Given the description of an element on the screen output the (x, y) to click on. 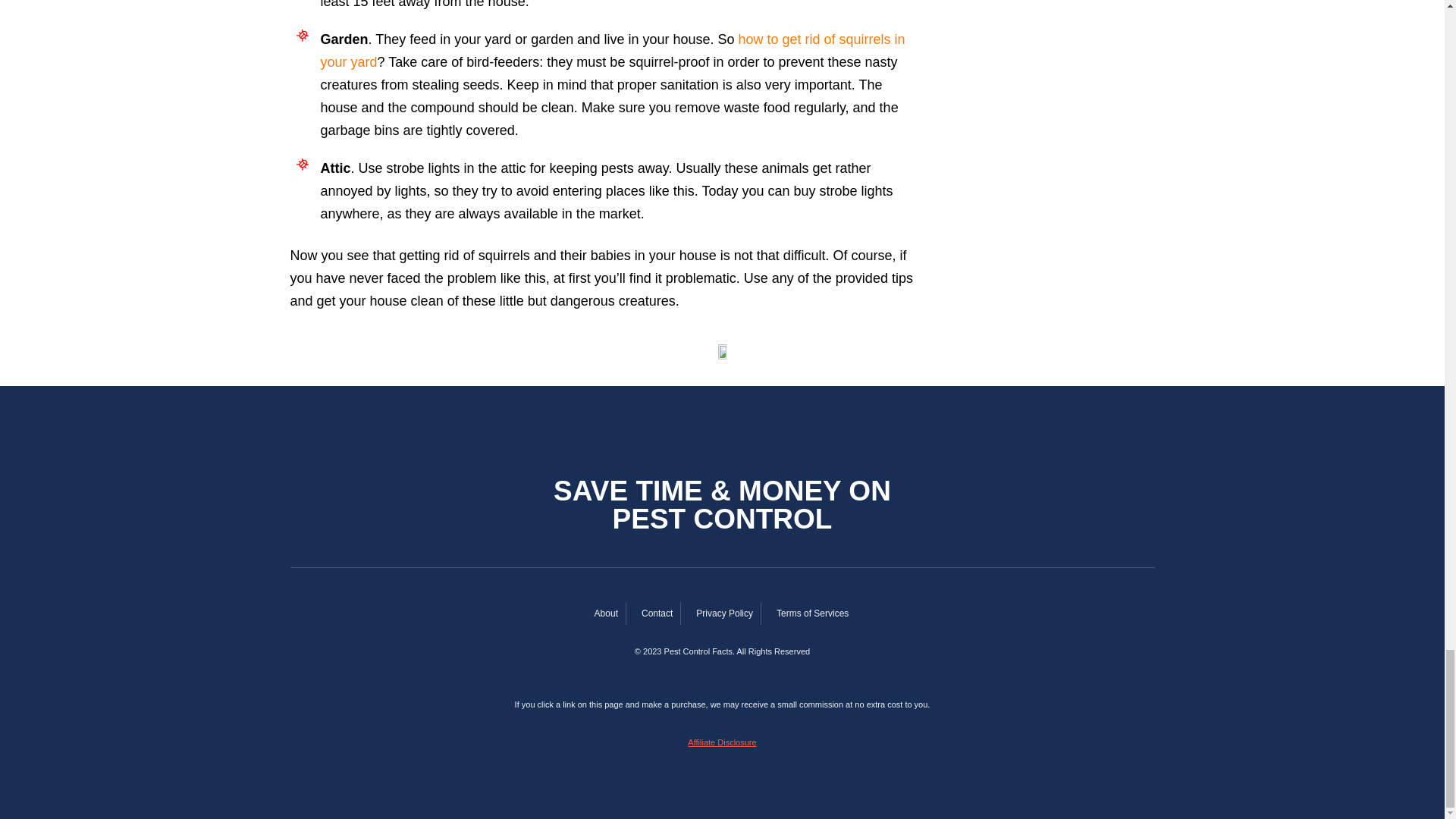
About (602, 612)
Contact (653, 612)
Affiliate Disclosure (721, 741)
Terms of Services (809, 612)
Privacy Policy (721, 612)
how to get rid of squirrels in your yard (612, 50)
